Given the description of an element on the screen output the (x, y) to click on. 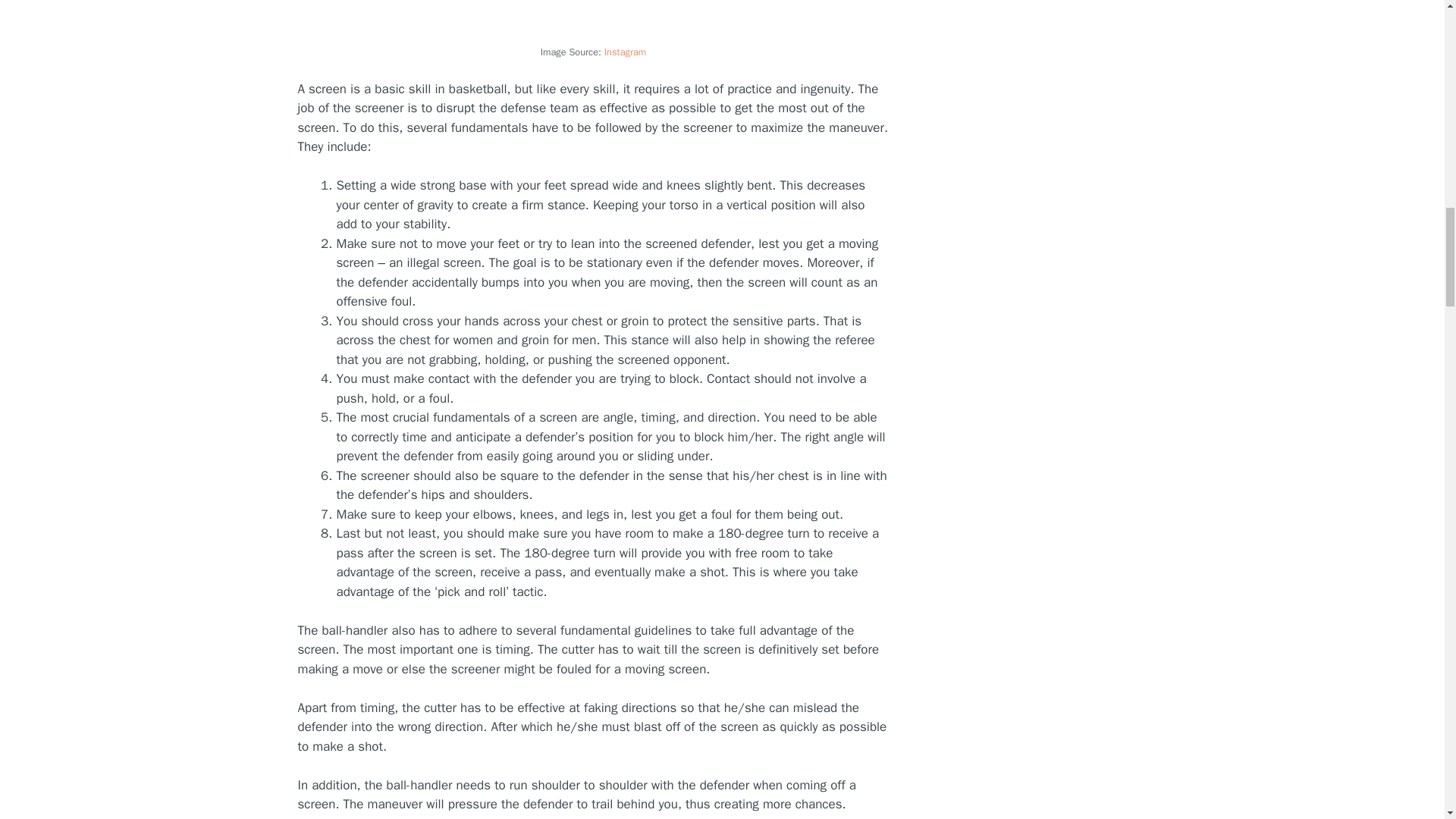
Instagram (625, 51)
